Given the description of an element on the screen output the (x, y) to click on. 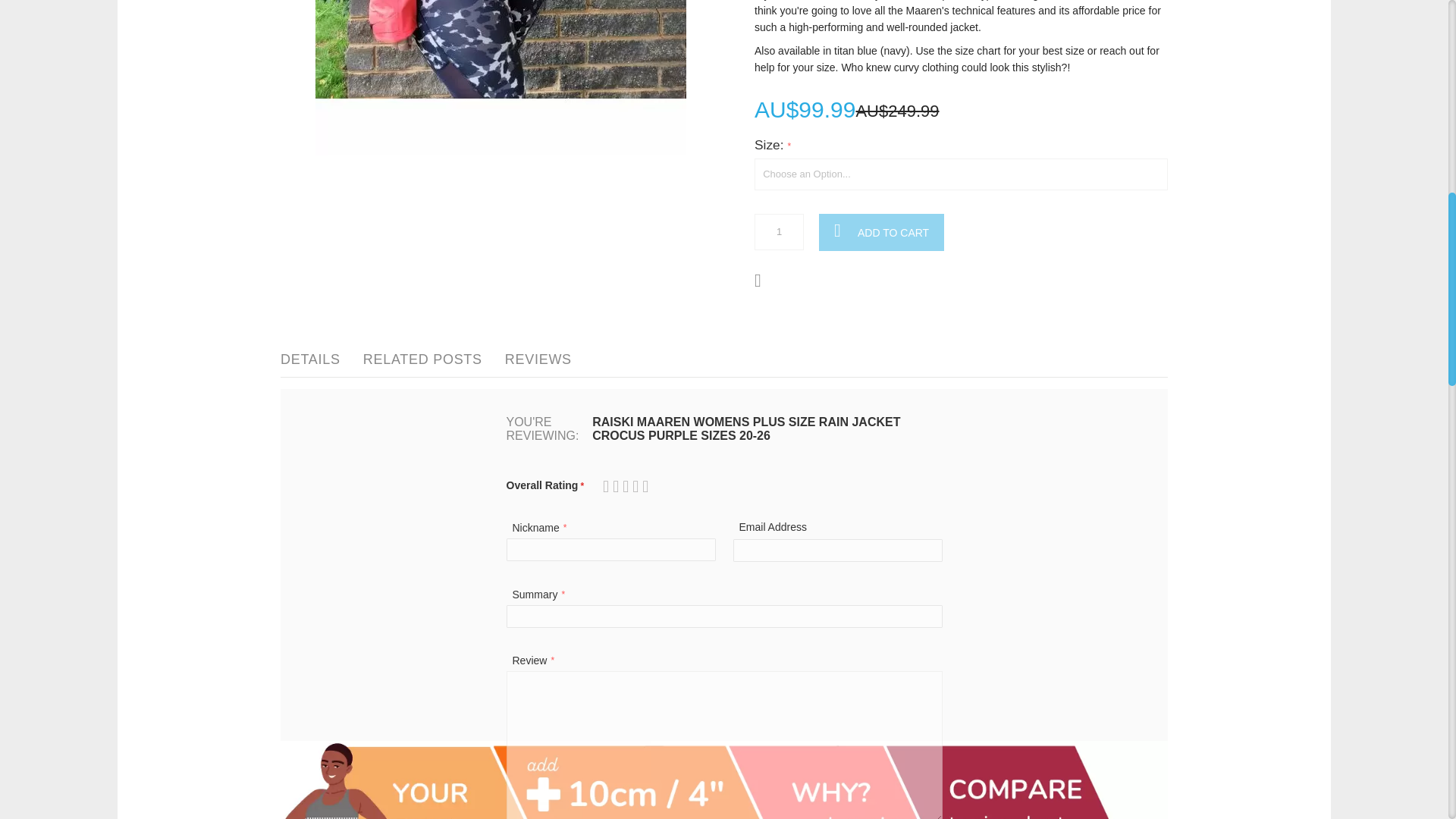
2 stars (612, 486)
Add to Cart (880, 231)
4 stars (622, 486)
3 stars (616, 486)
5 stars (627, 486)
1 (778, 231)
